Given the description of an element on the screen output the (x, y) to click on. 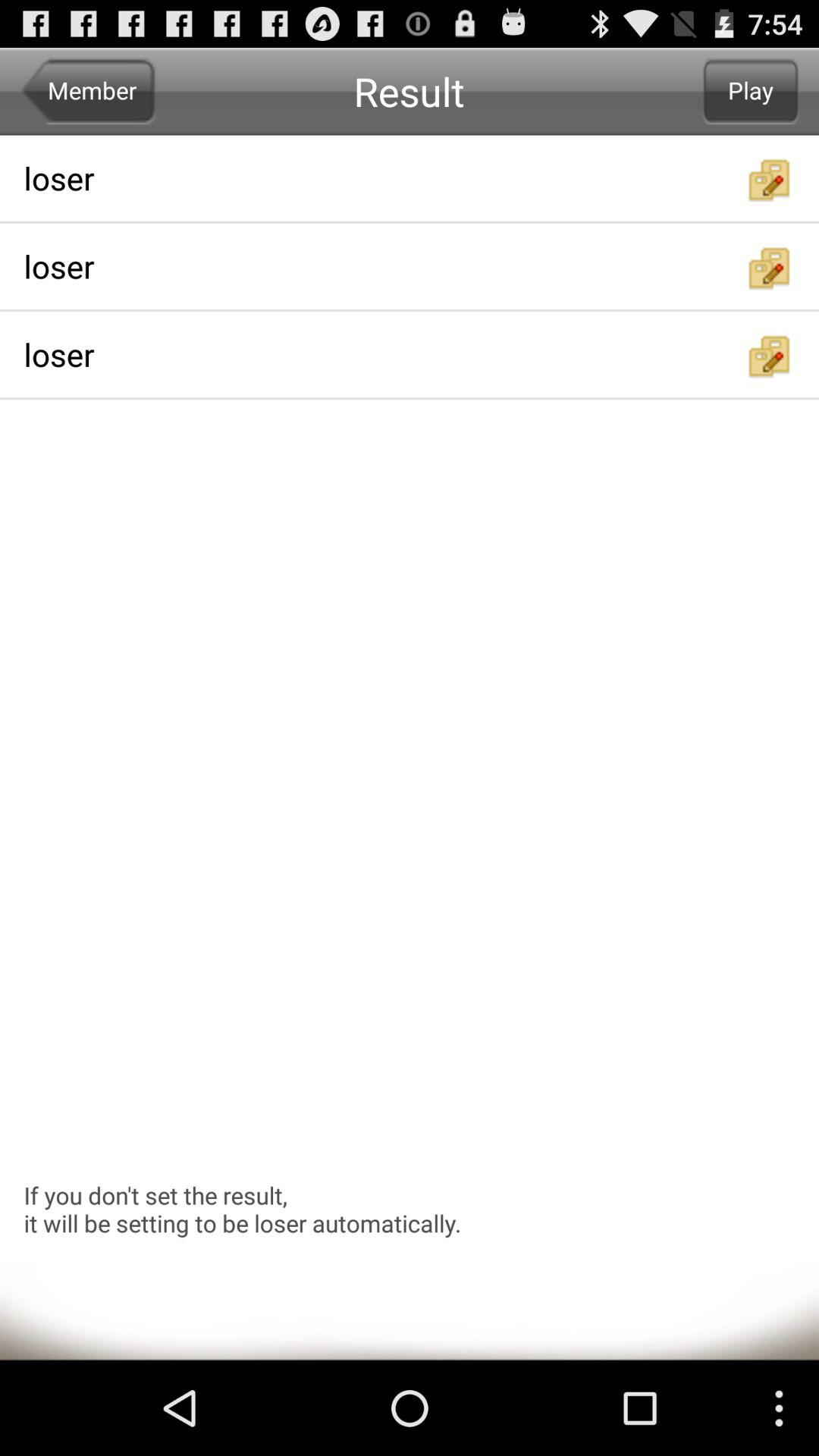
turn off the item above the loser (750, 91)
